Given the description of an element on the screen output the (x, y) to click on. 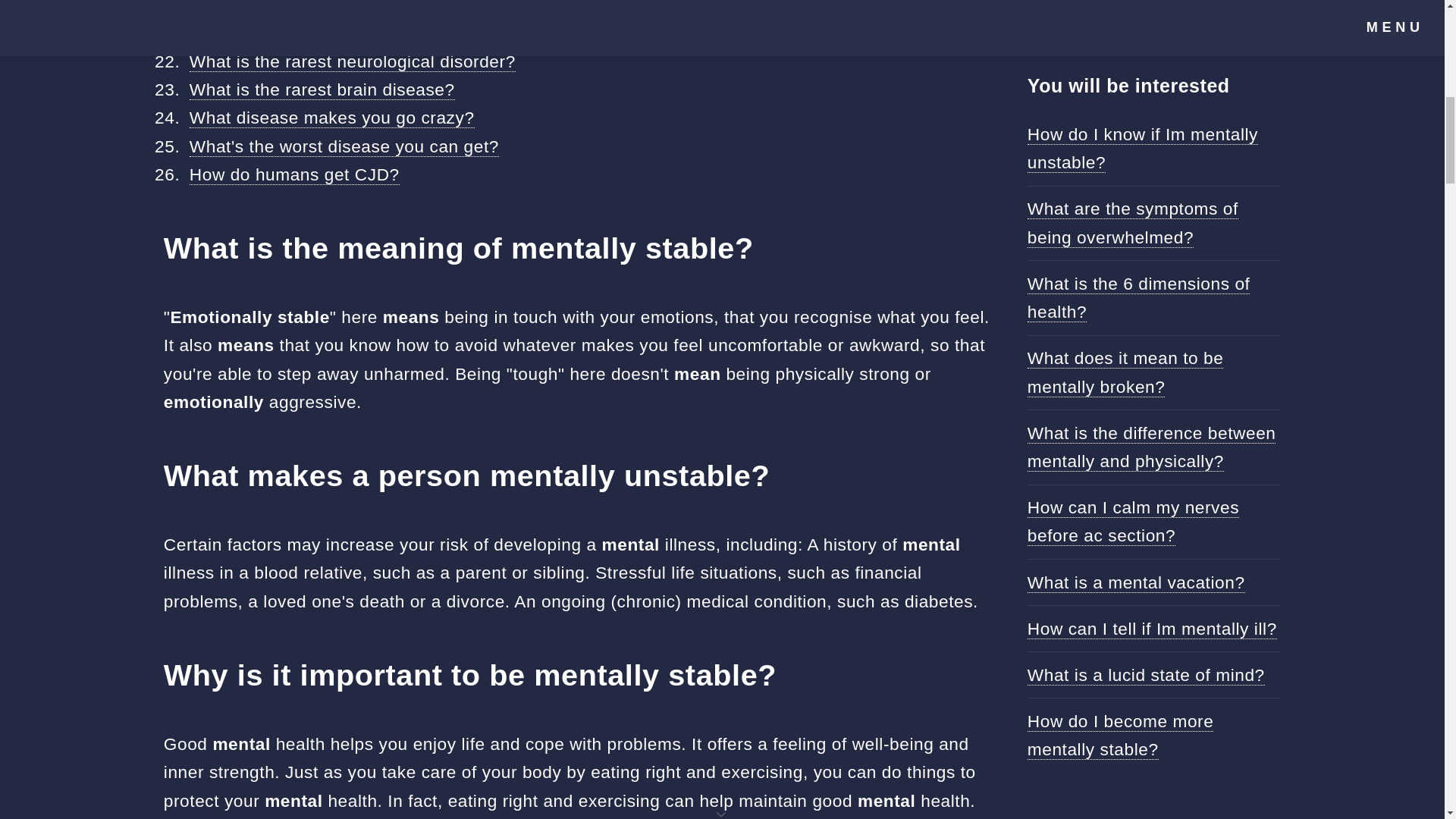
What disease makes you go crazy? (331, 117)
What's the worst disease you can get? (344, 146)
What is the rarest neurological disorder? (352, 61)
How do humans get CJD? (293, 174)
What is the rarest brain disease? (321, 89)
Can neurological disorders be cured? (339, 32)
What are the top 5 neurological disorders? (360, 7)
